Given the description of an element on the screen output the (x, y) to click on. 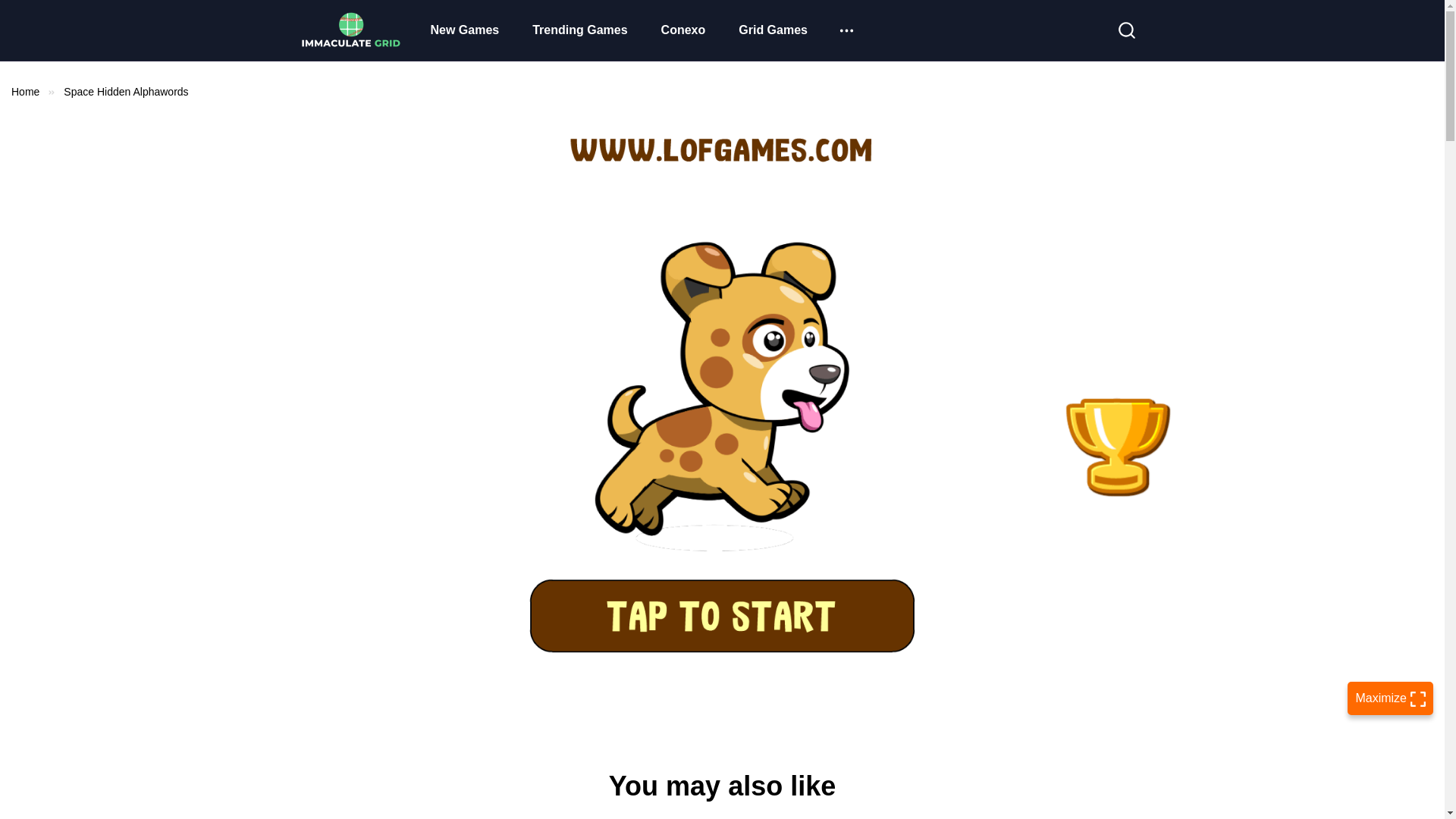
New Games (464, 30)
Conexo (683, 30)
Trending Games (579, 30)
New Games (464, 30)
Trending Games (579, 30)
Home (25, 91)
Conexo (683, 30)
Grid Games (773, 30)
Grid Games (773, 30)
IMMACULATE GRID (350, 30)
list-menu (847, 29)
